Given the description of an element on the screen output the (x, y) to click on. 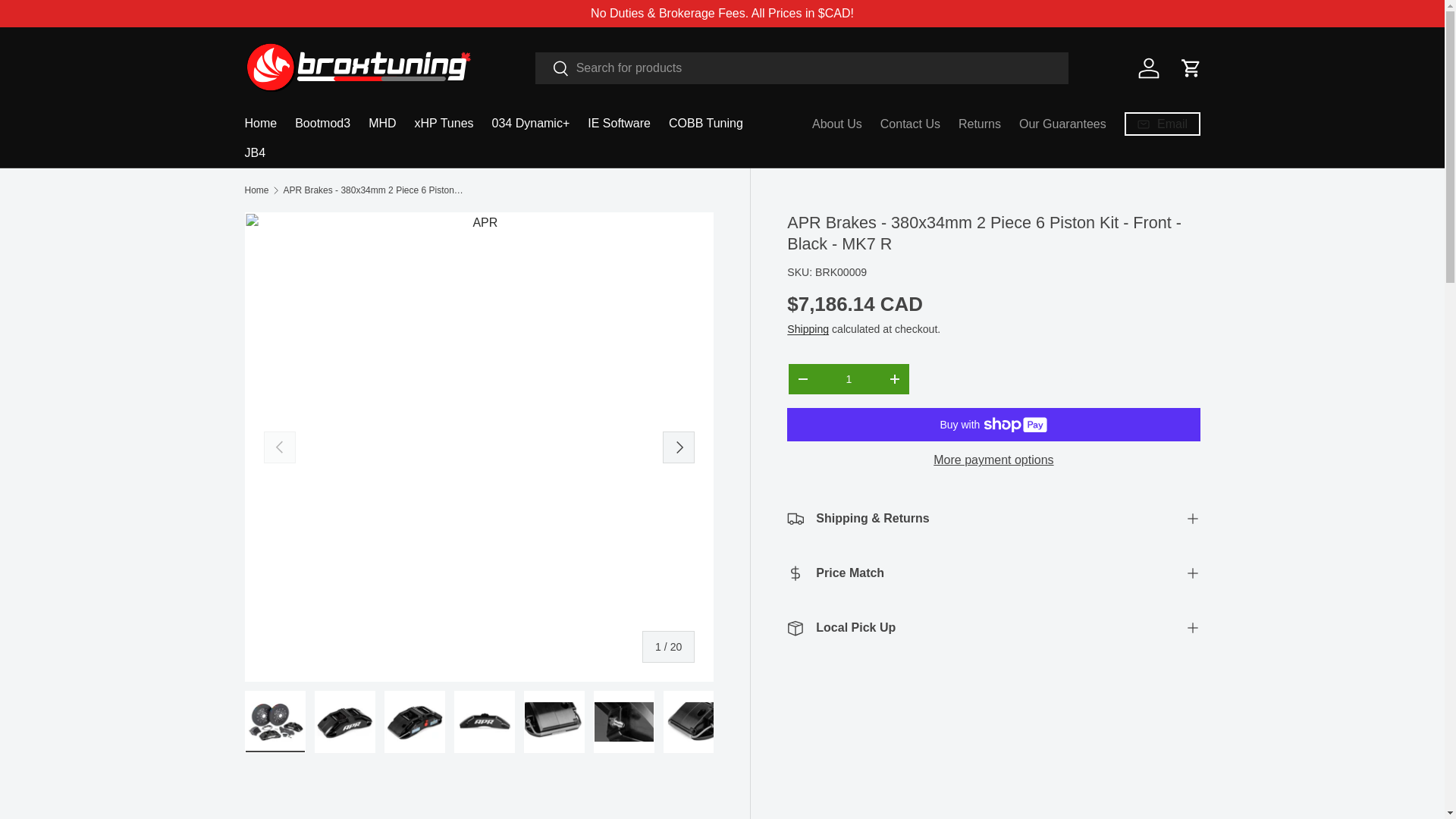
xHP Tunes (444, 123)
Our Guarantees (1062, 123)
Log in (1147, 68)
IE Software (619, 123)
Email (1161, 123)
Home (255, 189)
Returns (979, 123)
About Us (836, 123)
Search (552, 68)
COBB Tuning (705, 123)
Bootmod3 (322, 123)
Contact Us (910, 123)
1 (847, 378)
Cart (1190, 68)
